Given the description of an element on the screen output the (x, y) to click on. 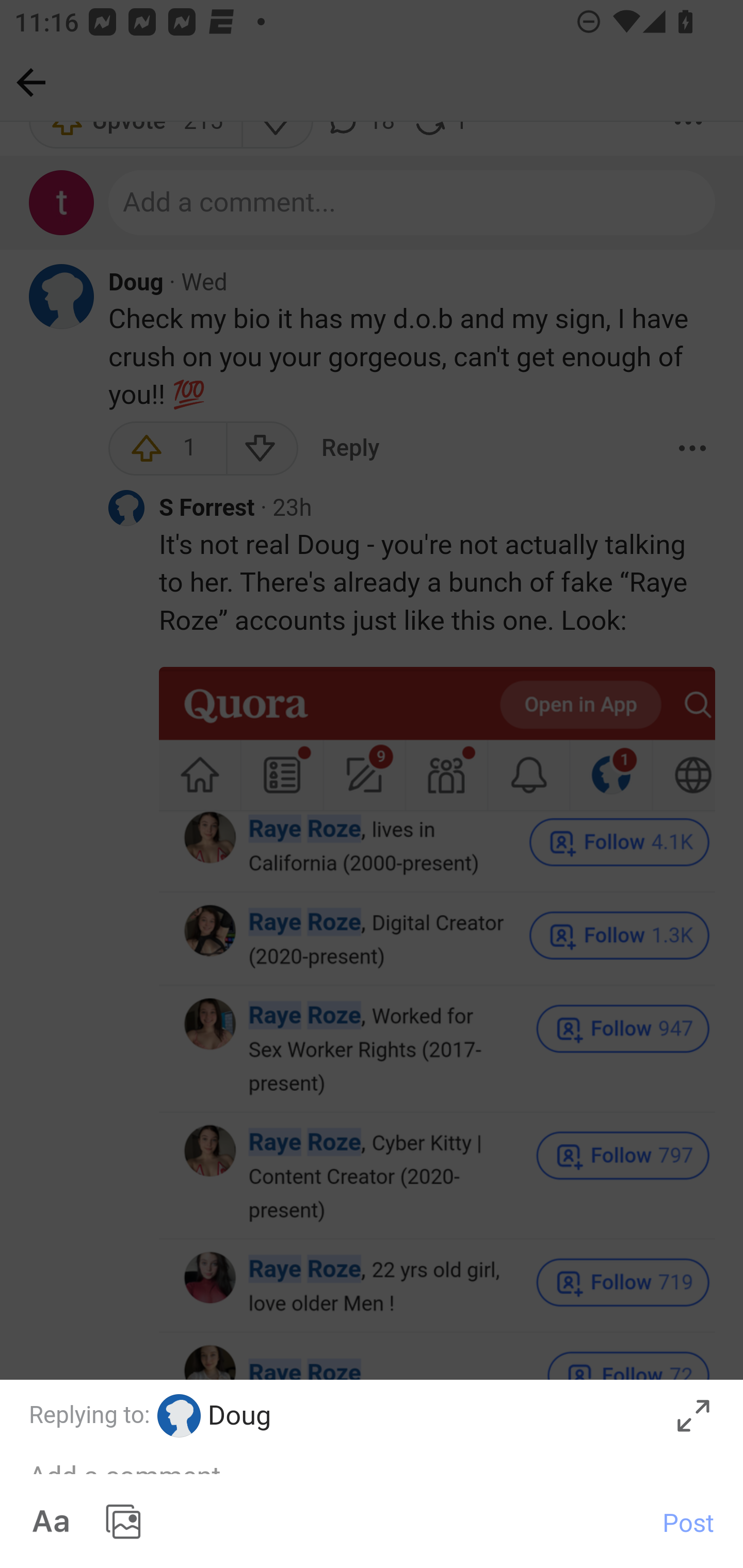
Quora Post (371, 1473)
Post (687, 1521)
